Given the description of an element on the screen output the (x, y) to click on. 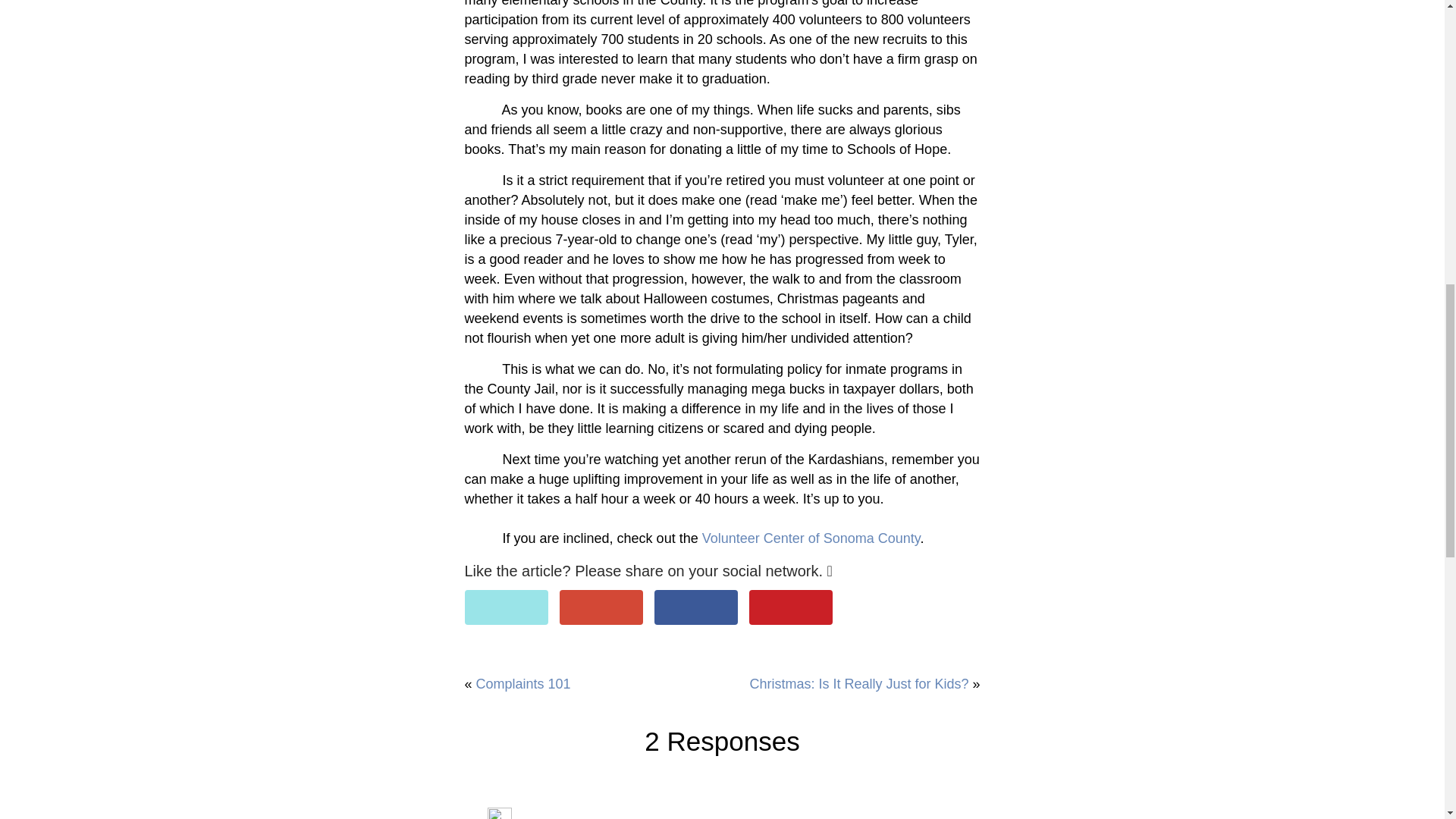
Share this post on Twitter! (505, 606)
Christmas: Is It Really Just for Kids? (858, 683)
Volunteer Center of Sonoma County (810, 538)
Twitter (505, 606)
Complaints 101 (523, 683)
Share this post on Facebook! (695, 606)
Pinterest (790, 606)
Facebook (695, 606)
